Given the description of an element on the screen output the (x, y) to click on. 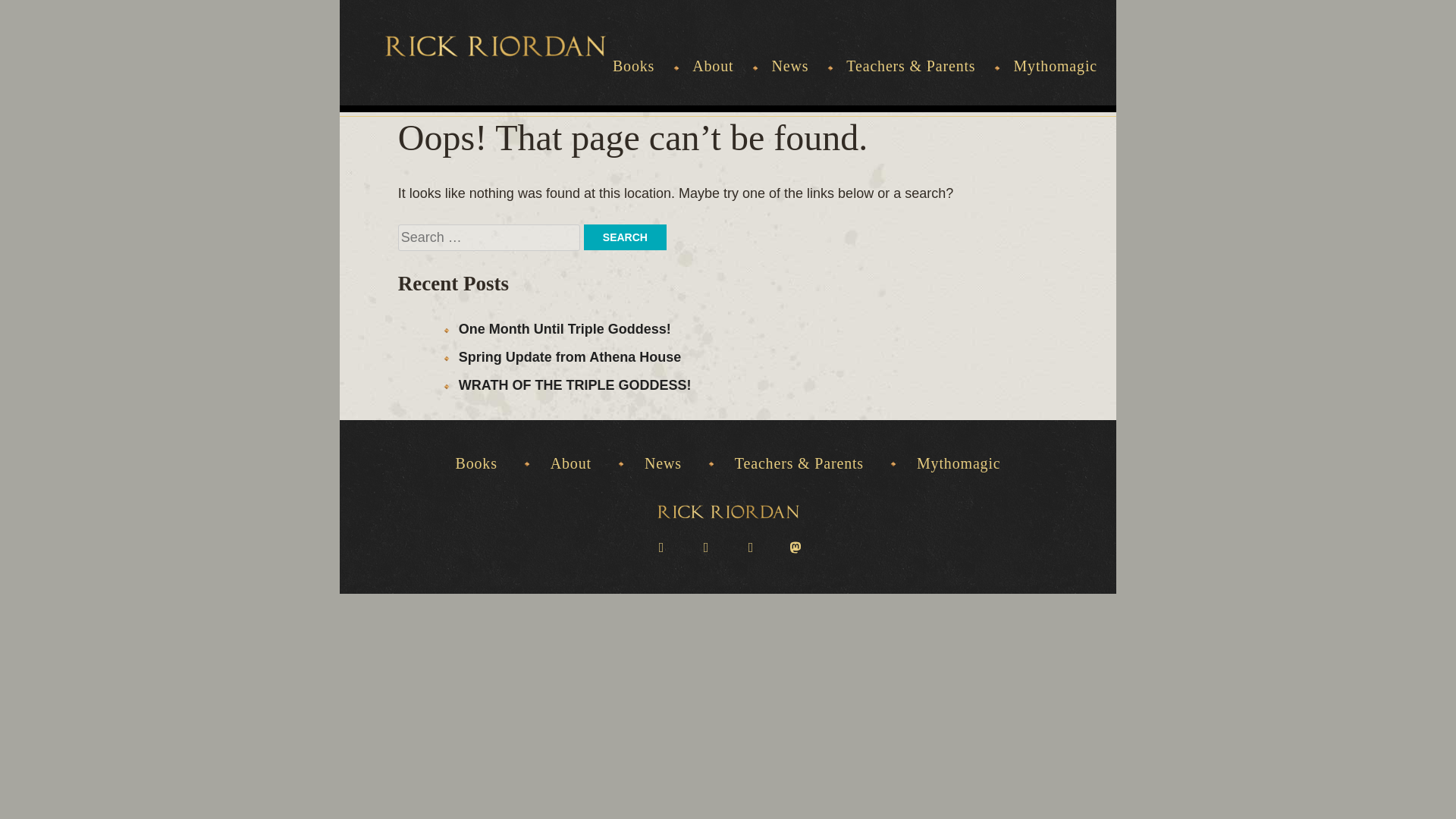
Mythomagic (959, 463)
Rick Riordan (495, 46)
Search (624, 237)
About (570, 463)
Mythomagic (1055, 81)
News (663, 463)
Mastodon (795, 546)
Search (624, 237)
Books (475, 463)
Rick Riordan (726, 511)
